Given the description of an element on the screen output the (x, y) to click on. 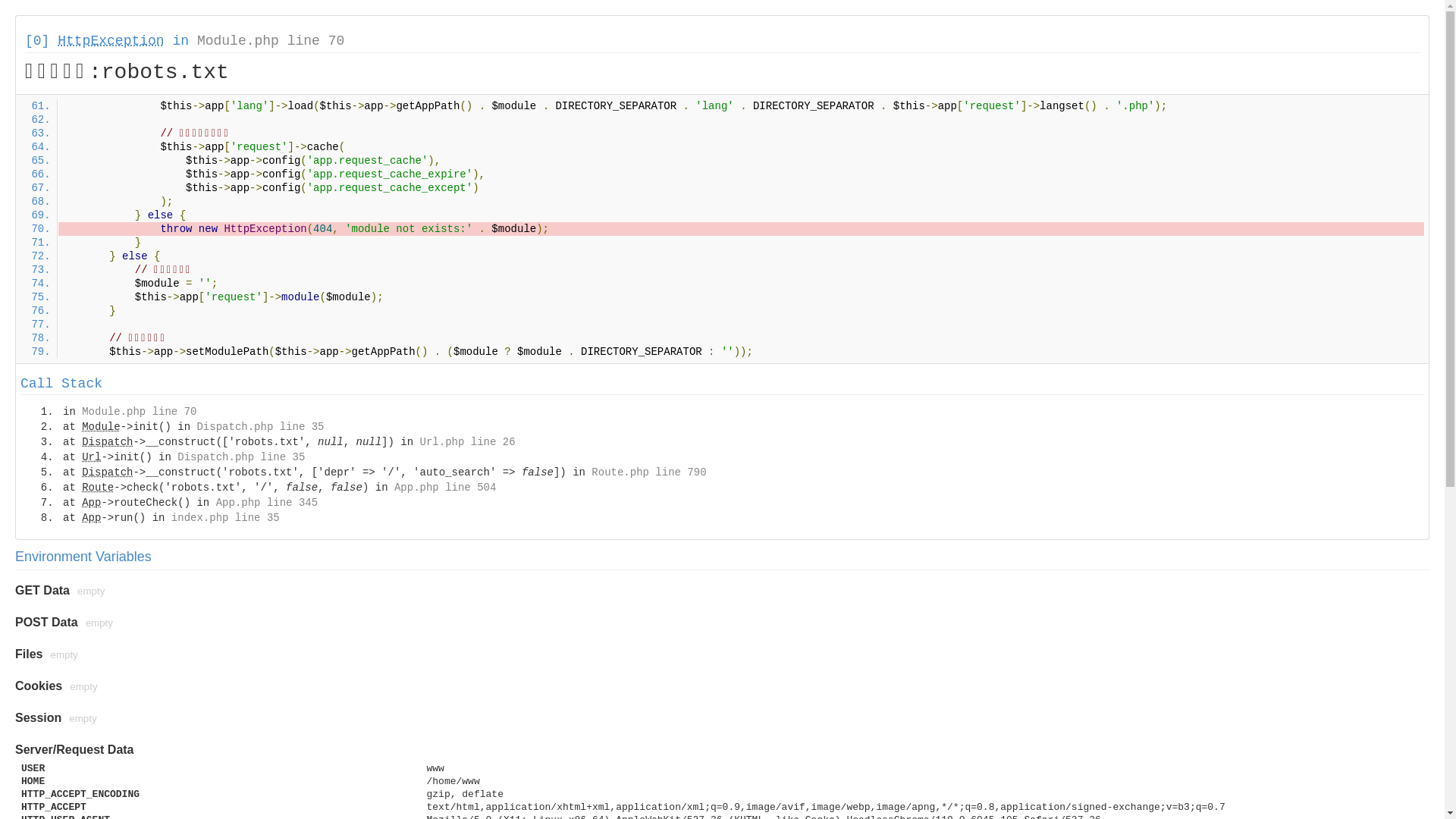
App.php line 345 Element type: text (266, 502)
App.php line 504 Element type: text (444, 487)
Dispatch.php line 35 Element type: text (240, 457)
index.php line 35 Element type: text (225, 517)
Route.php line 790 Element type: text (648, 472)
Dispatch.php line 35 Element type: text (259, 426)
Url.php line 26 Element type: text (467, 442)
Module.php line 70 Element type: text (138, 411)
Module.php line 70 Element type: text (270, 40)
